Given the description of an element on the screen output the (x, y) to click on. 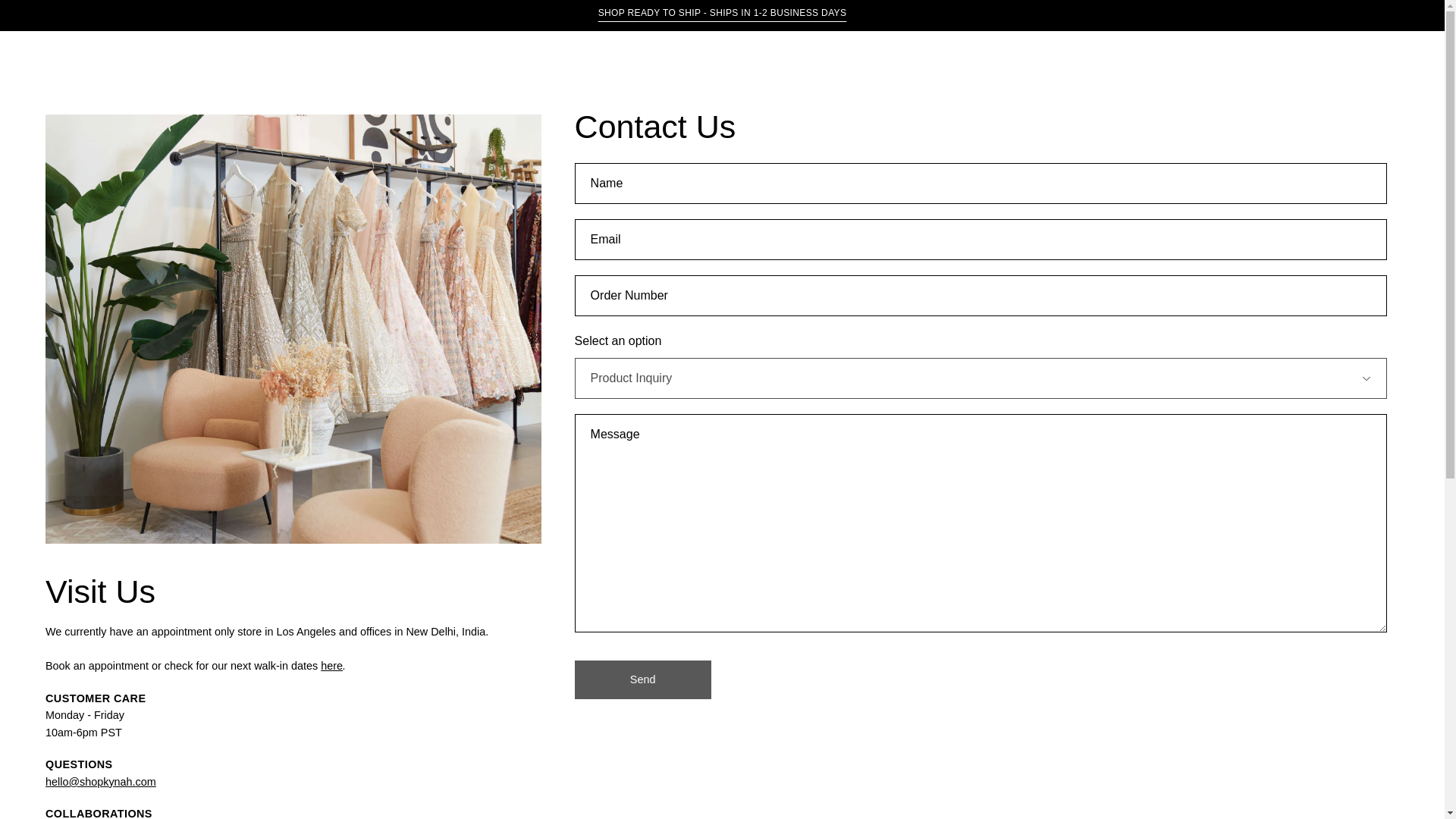
Womens Ready to Ship (722, 15)
SHOP READY TO SHIP - SHIPS IN 1-2 BUSINESS DAYS (722, 15)
Visit Us (331, 665)
